Given the description of an element on the screen output the (x, y) to click on. 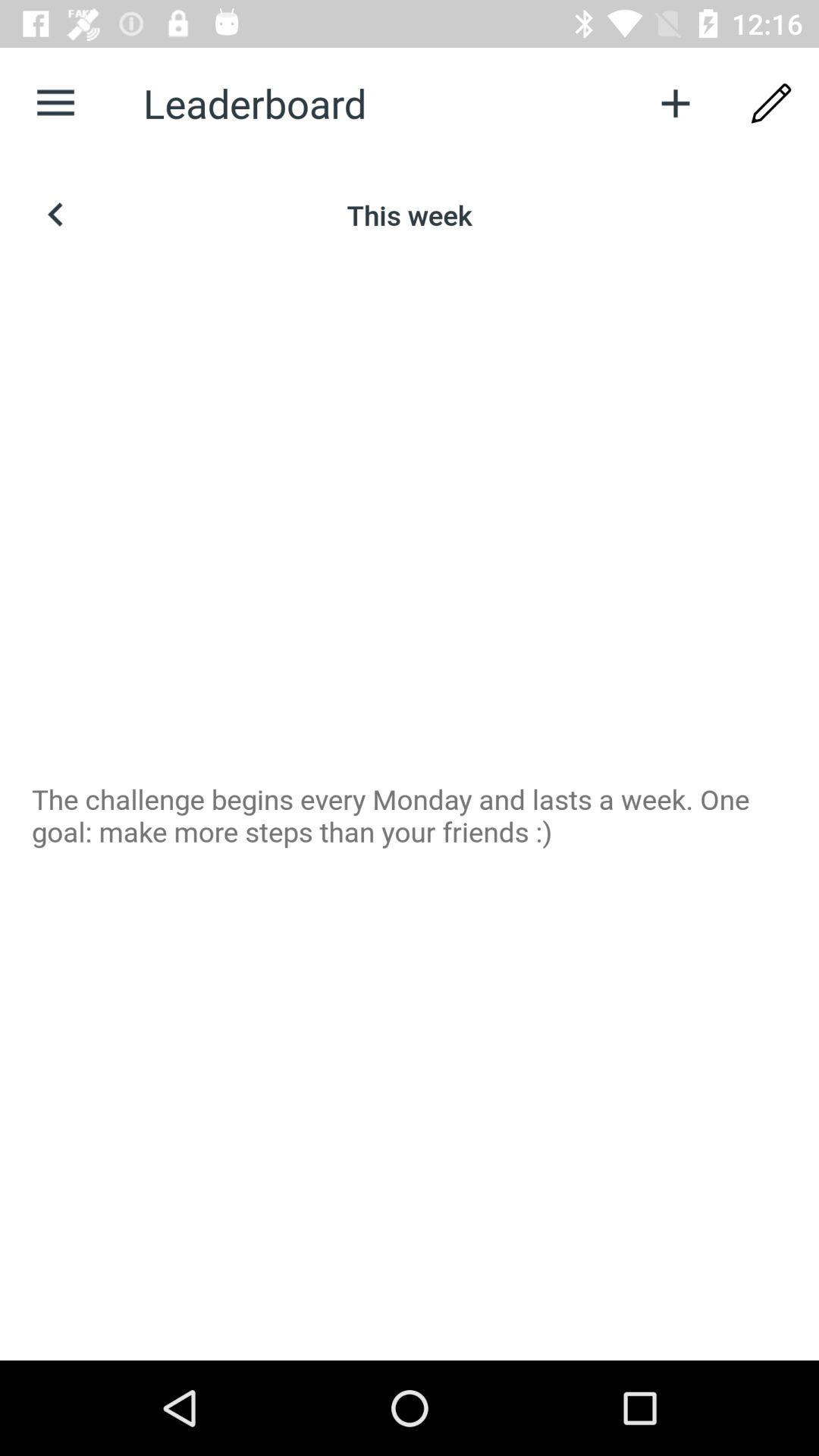
launch the item next to this week item (55, 214)
